Given the description of an element on the screen output the (x, y) to click on. 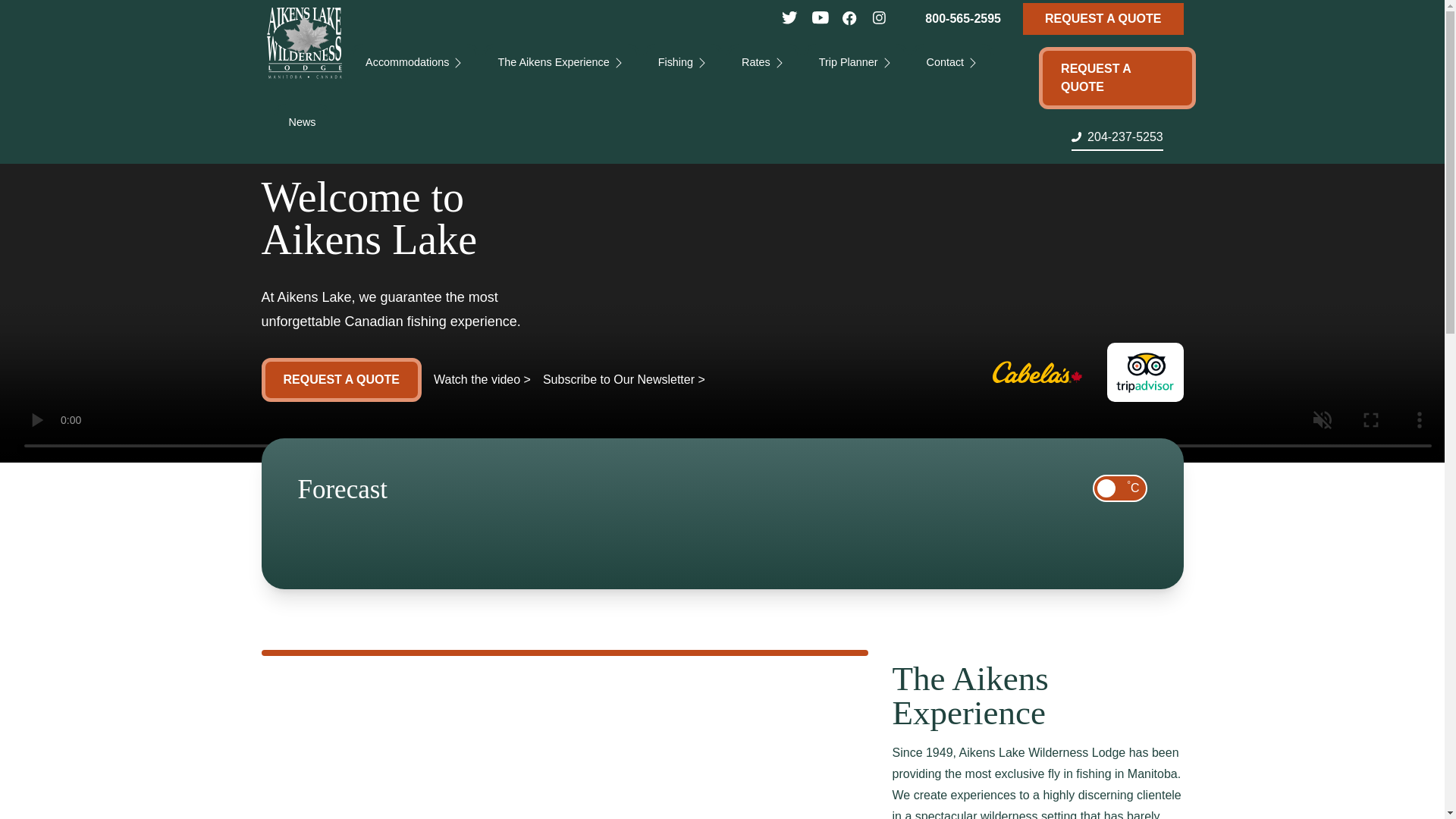
Rates (763, 62)
800-565-2595 (962, 19)
Trip Planner (855, 62)
Fishing (683, 62)
About (310, 62)
REQUEST A QUOTE (1103, 19)
Accommodations (414, 62)
The Aikens Experience (560, 62)
